Given the description of an element on the screen output the (x, y) to click on. 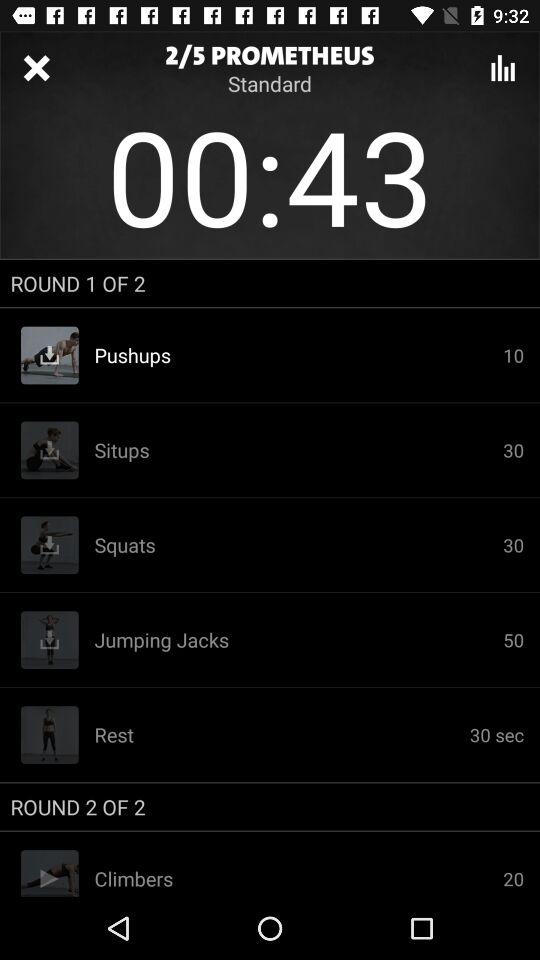
click the icon to the left of 30 (298, 639)
